Given the description of an element on the screen output the (x, y) to click on. 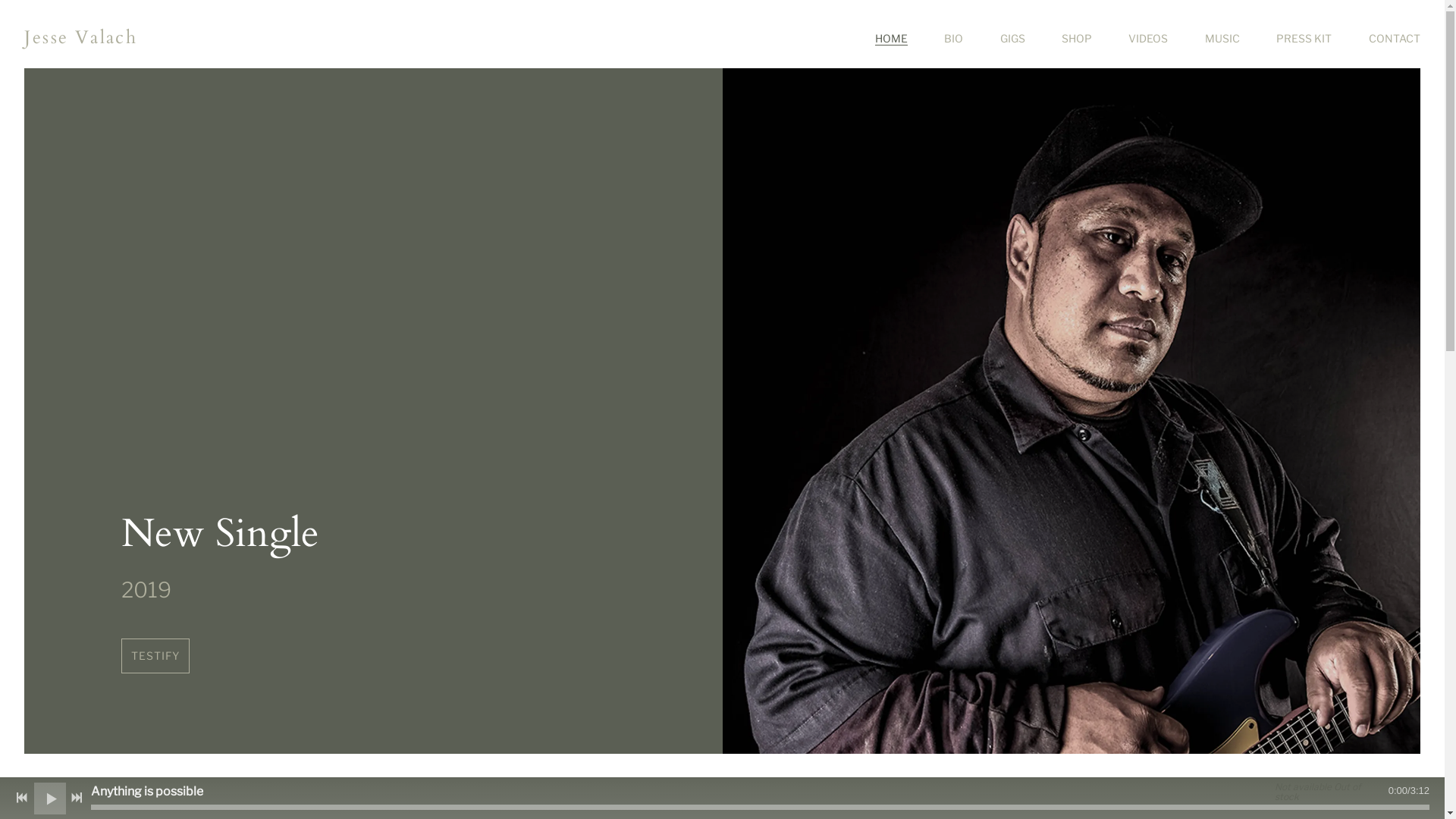
VIDEOS Element type: text (1147, 38)
CONTACT Element type: text (1394, 38)
BIO Element type: text (953, 38)
TESTIFY Element type: text (155, 655)
HOME Element type: text (891, 38)
Next track Element type: hover (76, 797)
GIGS Element type: text (1012, 38)
PRESS KIT Element type: text (1303, 38)
Play Element type: hover (49, 797)
MUSIC Element type: text (1221, 38)
Previous track Element type: hover (21, 797)
SHOP Element type: text (1076, 38)
Jesse Valach Element type: text (80, 37)
